Given the description of an element on the screen output the (x, y) to click on. 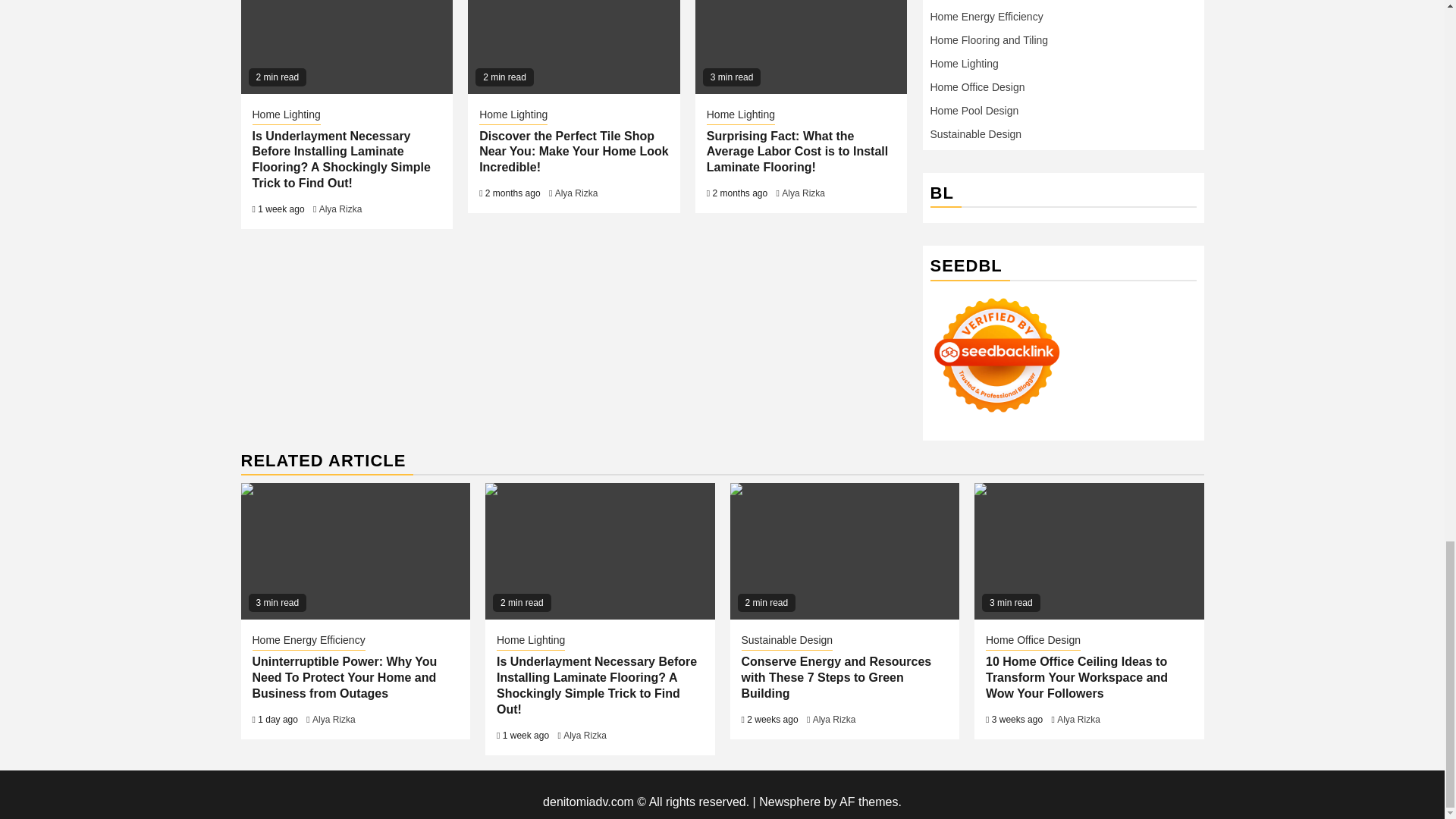
Seedbacklink (996, 355)
Home Lighting (285, 116)
Alya Rizka (340, 208)
